Given the description of an element on the screen output the (x, y) to click on. 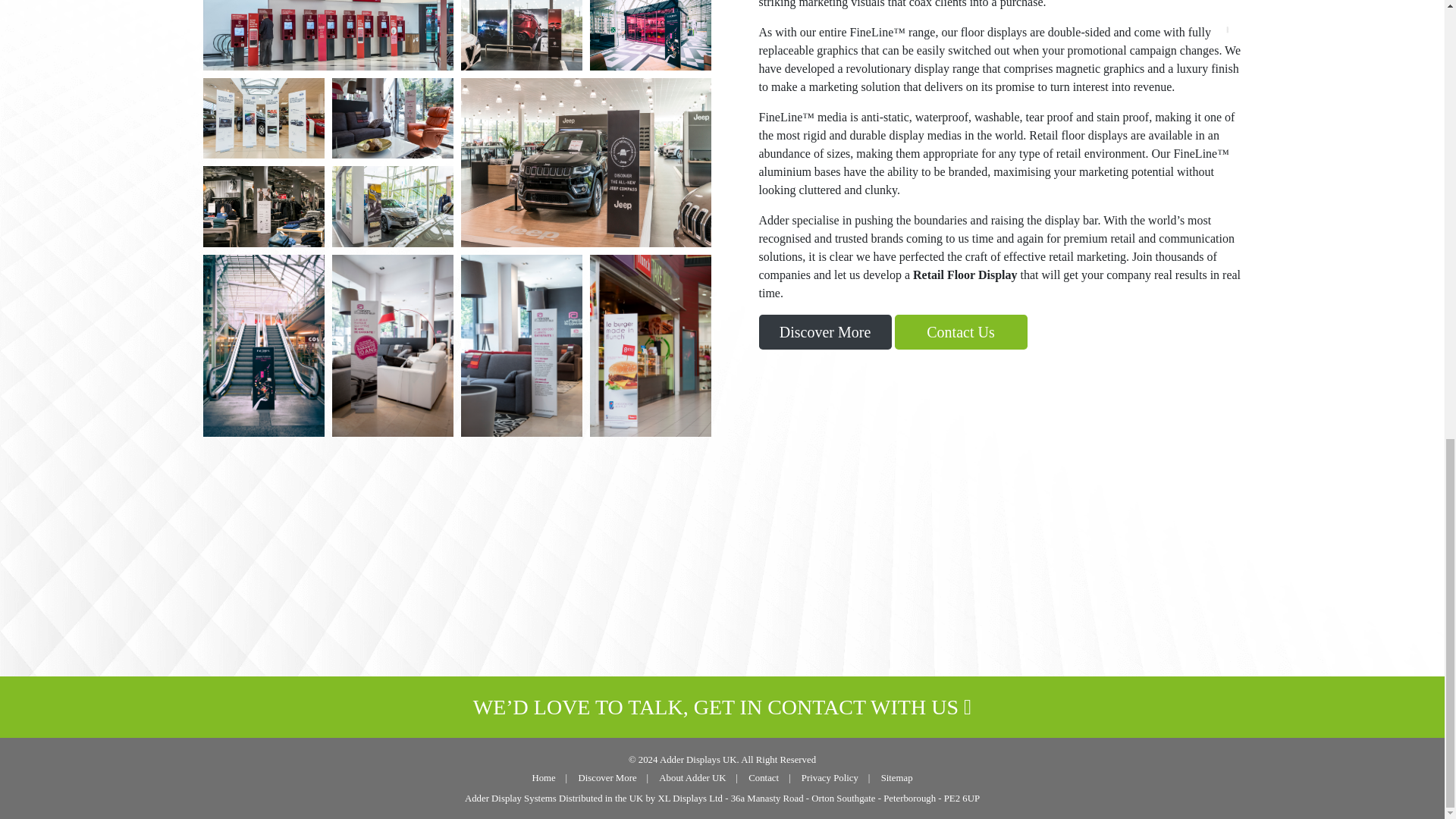
Home (542, 777)
Discover More (607, 777)
Contact Us (961, 331)
About Adder UK (692, 777)
Home (542, 777)
Sitemap (896, 777)
Privacy Policy (830, 777)
Discover More (824, 331)
Contact (763, 777)
Discover More (607, 777)
